Given the description of an element on the screen output the (x, y) to click on. 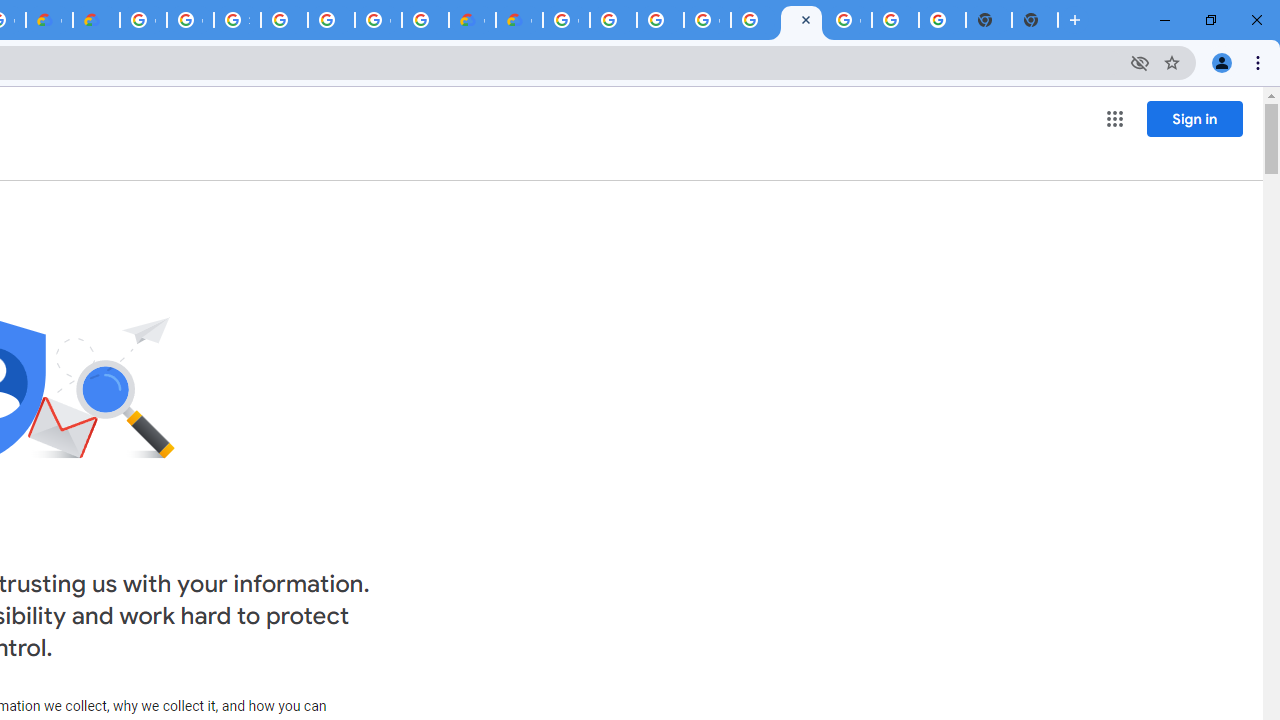
Google Cloud Platform (566, 20)
Sign in - Google Accounts (237, 20)
Google Cloud Platform (706, 20)
Google Cloud Platform (848, 20)
Browse Chrome as a guest - Computer - Google Chrome Help (613, 20)
Customer Care | Google Cloud (472, 20)
